Given the description of an element on the screen output the (x, y) to click on. 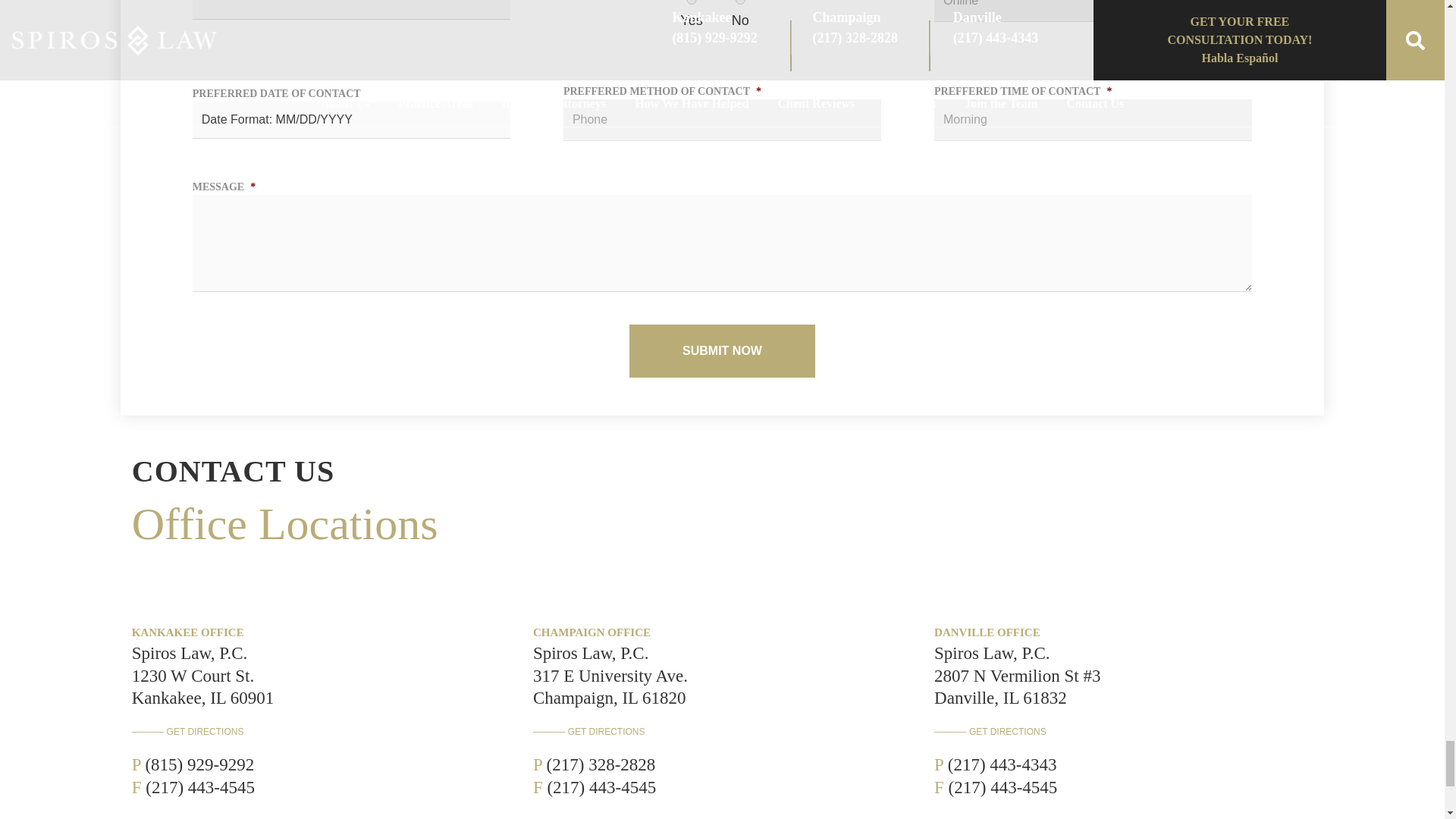
Submit Now (721, 350)
No (740, 2)
Yes (690, 2)
